Given the description of an element on the screen output the (x, y) to click on. 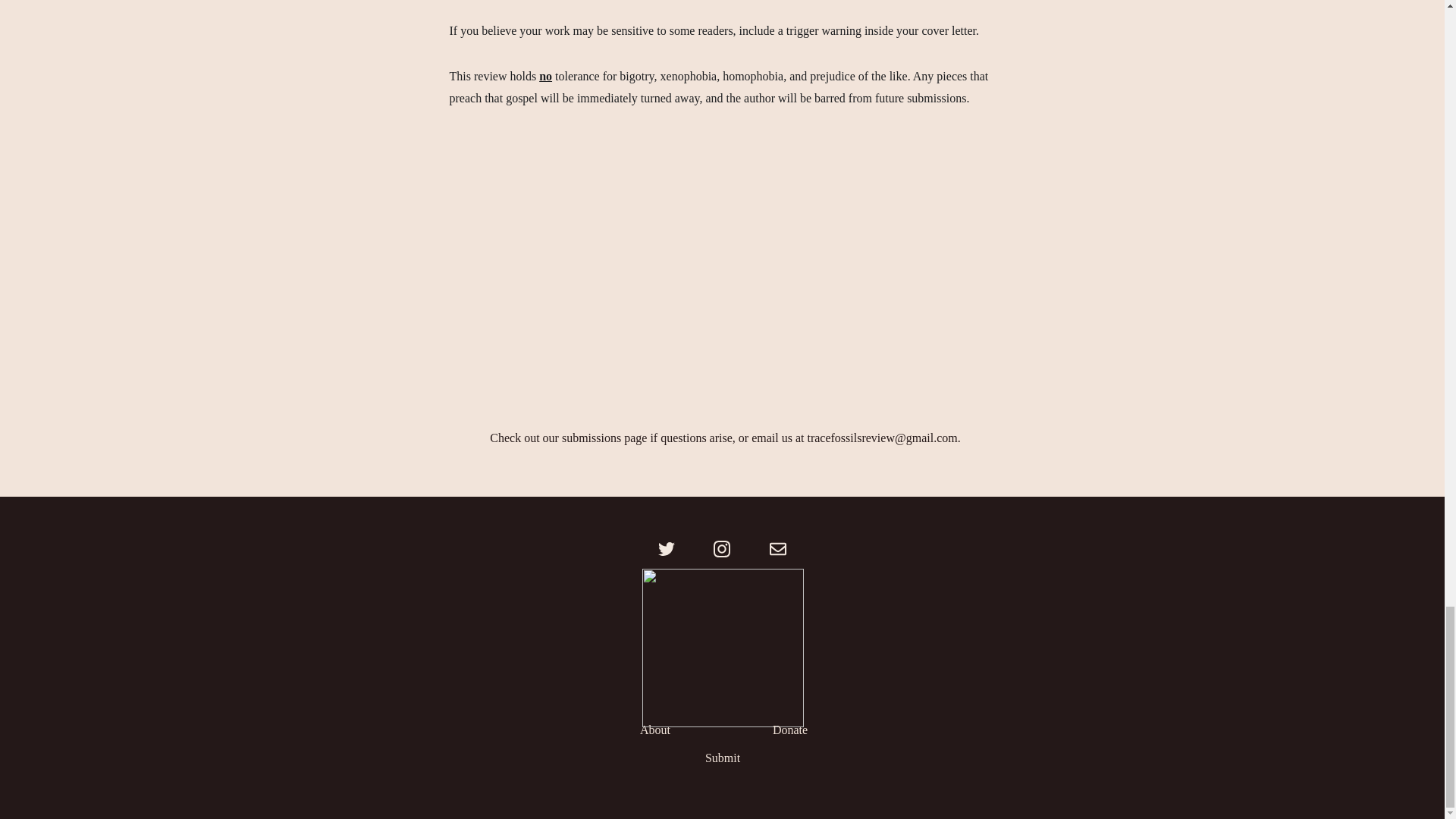
Go to Instagram page (729, 548)
Submit (721, 757)
Donate (790, 729)
Go to Twitter page (674, 548)
About (654, 729)
Go to Mail page (778, 548)
